Given the description of an element on the screen output the (x, y) to click on. 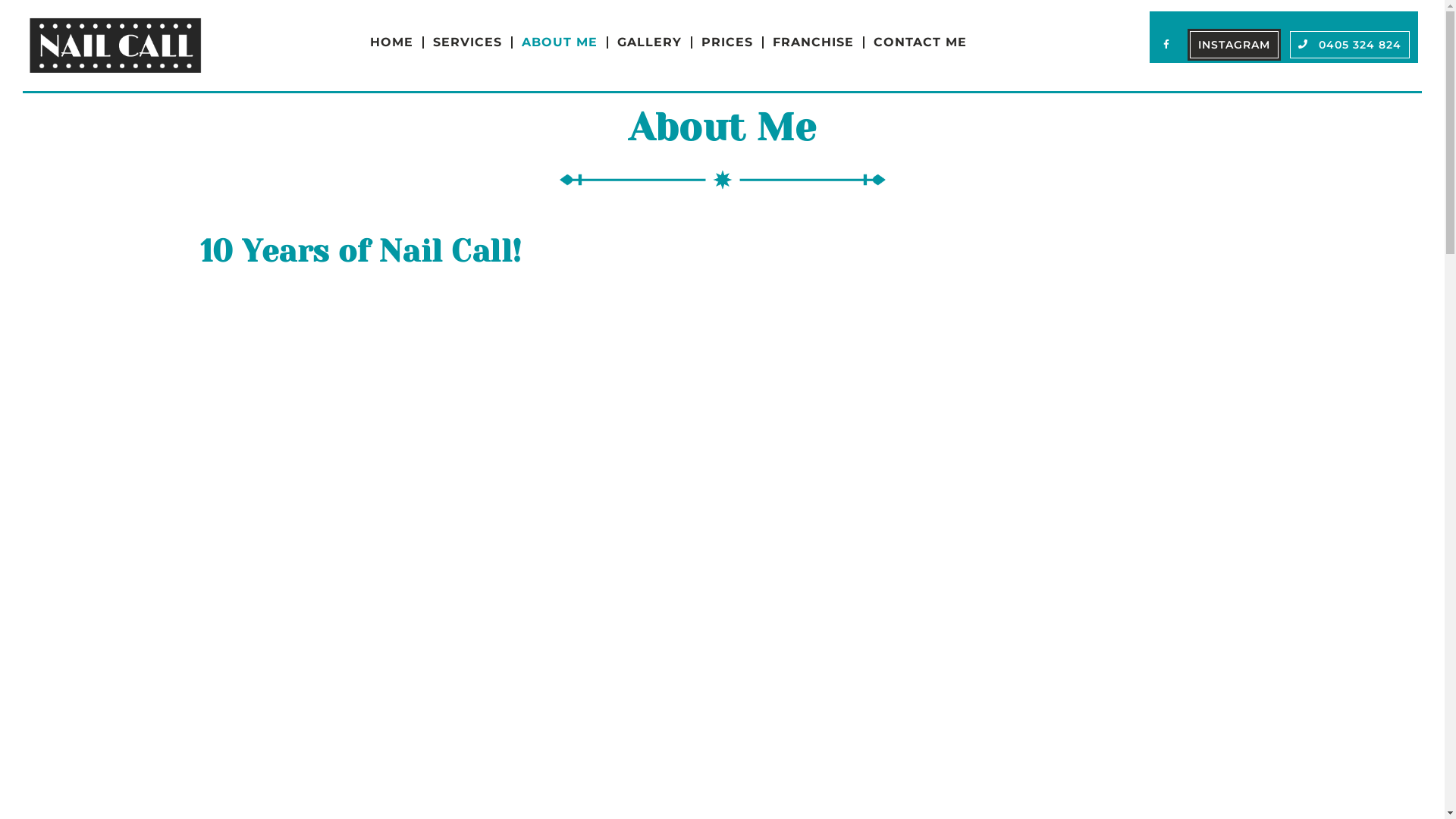
INSTAGRAM Element type: text (1233, 44)
ABOUT ME Element type: text (564, 42)
FRANCHISE Element type: text (818, 42)
0405 324 824 Element type: text (1349, 44)
SERVICES Element type: text (472, 42)
PRICES Element type: text (732, 42)
GALLERY Element type: text (654, 42)
CONTACT ME Element type: text (919, 42)
HOME Element type: text (396, 42)
